Given the description of an element on the screen output the (x, y) to click on. 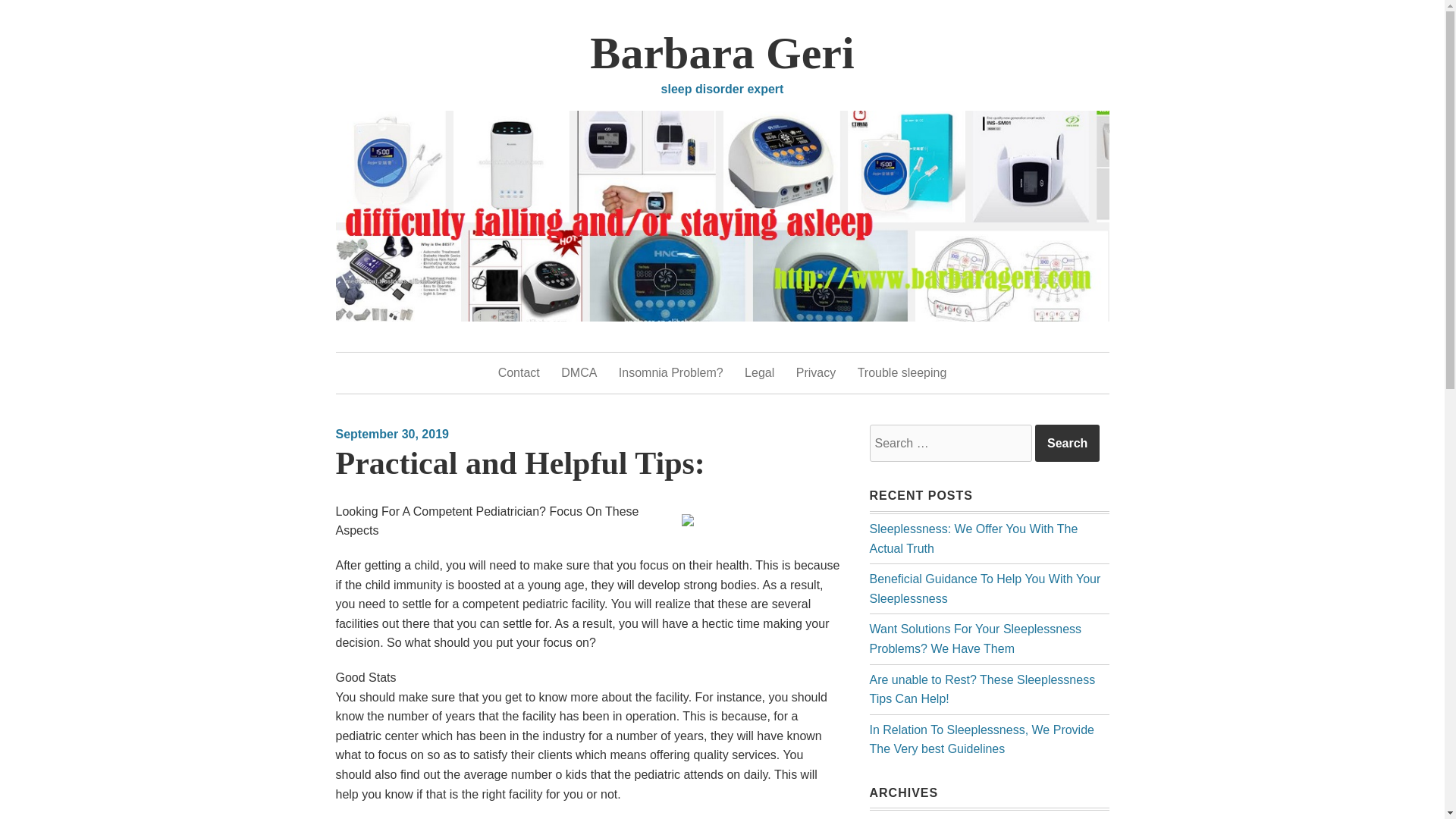
Legal (759, 373)
Are unable to Rest? These Sleeplessness Tips Can Help! (981, 689)
Barbara Geri (721, 52)
Search (1067, 443)
Search (1067, 443)
September 30, 2019 (391, 433)
Want Solutions For Your Sleeplessness Problems? We Have Them (975, 638)
Sleeplessness: We Offer You With The Actual Truth (973, 538)
Beneficial Guidance To Help You With Your Sleeplessness (984, 588)
Insomnia Problem? (670, 373)
